Given the description of an element on the screen output the (x, y) to click on. 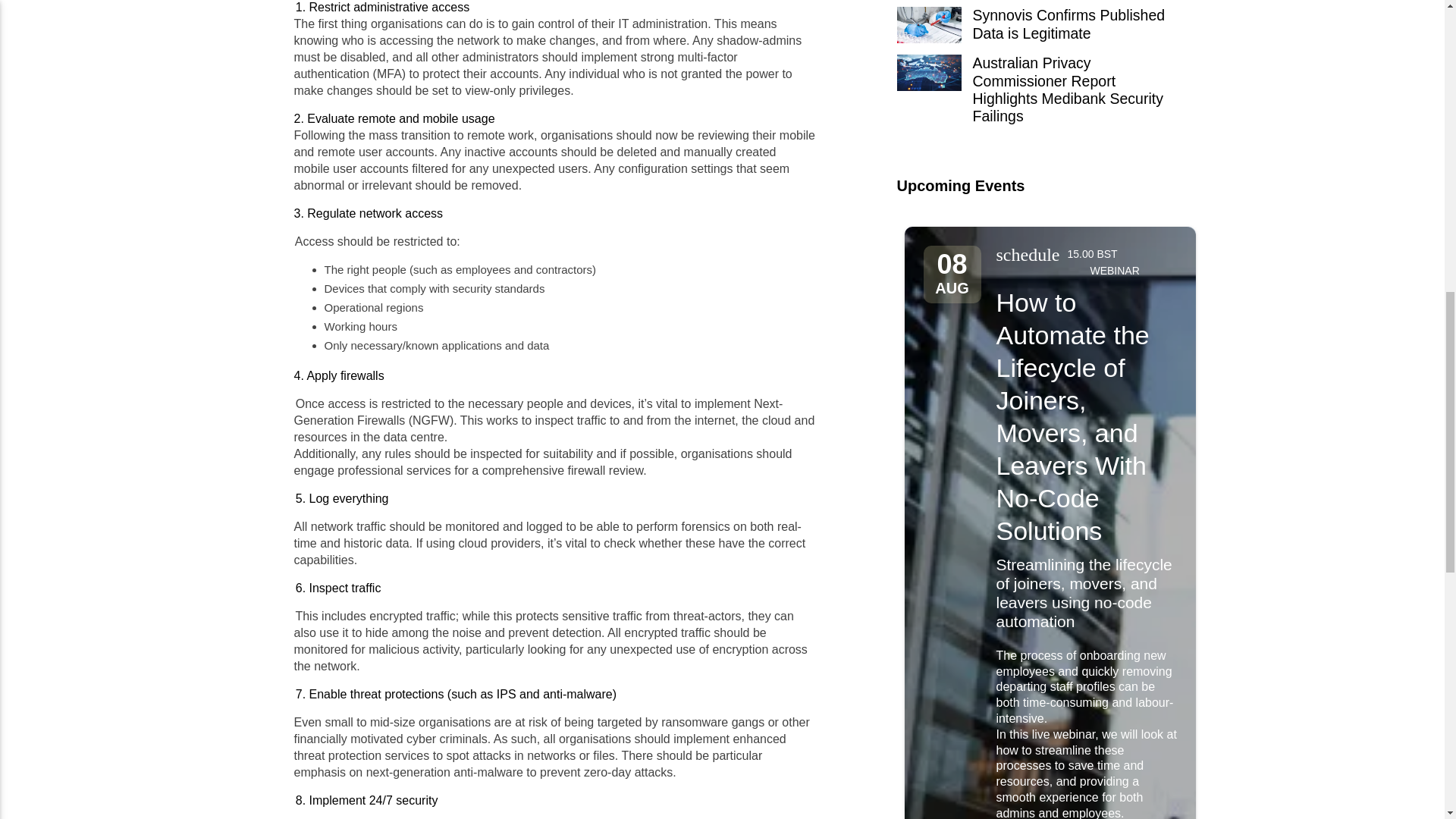
Synnovis Confirms Published Data is Legitimate (1031, 30)
